Given the description of an element on the screen output the (x, y) to click on. 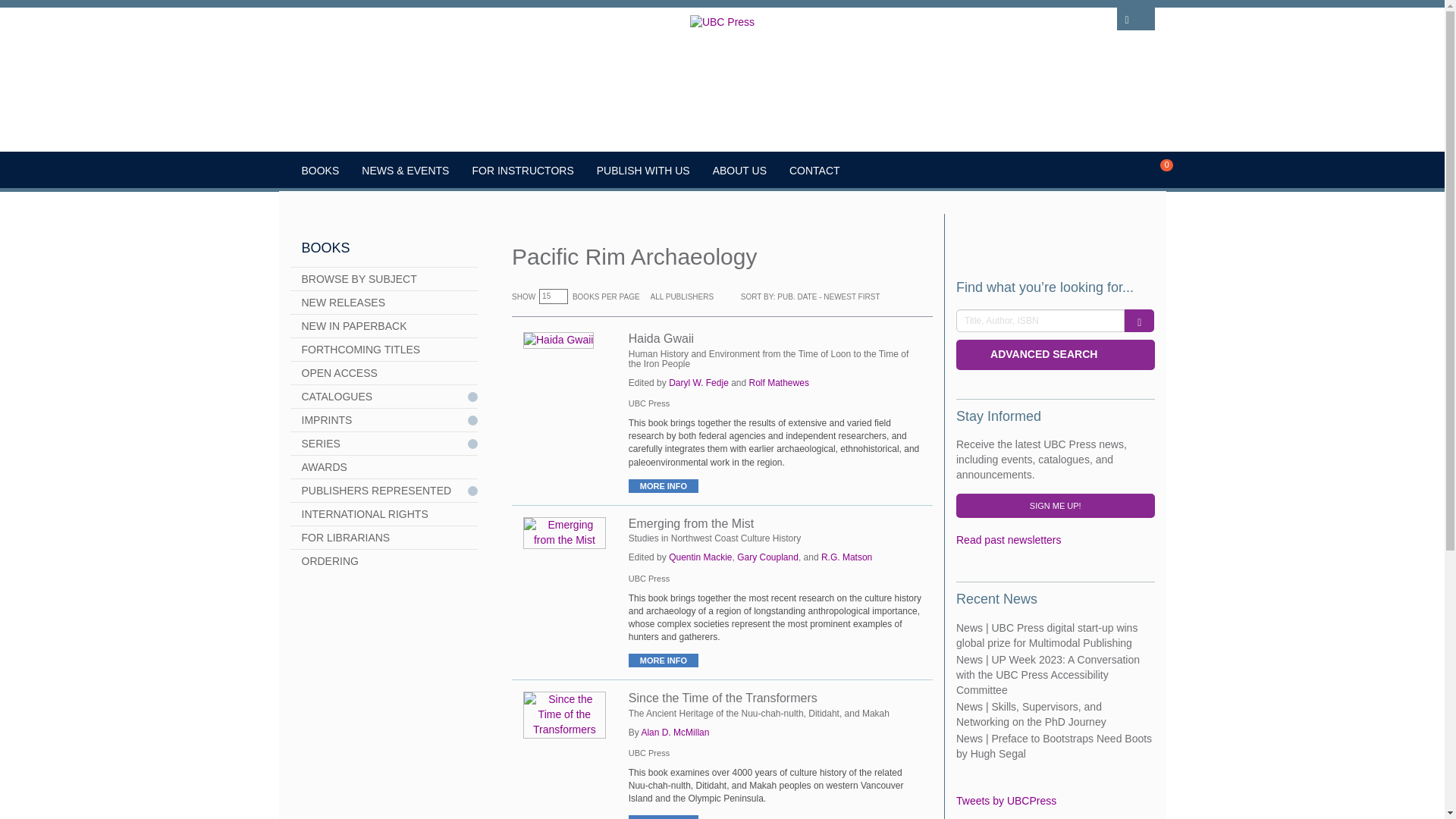
BOOKS (319, 170)
Twitter page (987, 238)
FOR INSTRUCTORS (522, 170)
Facebook page (965, 238)
Haida Gwaii (558, 340)
Instagram page (1031, 238)
YouTube page (1009, 238)
Emerging from the Mist (563, 532)
Since the Time of the Transformers (563, 714)
